Given the description of an element on the screen output the (x, y) to click on. 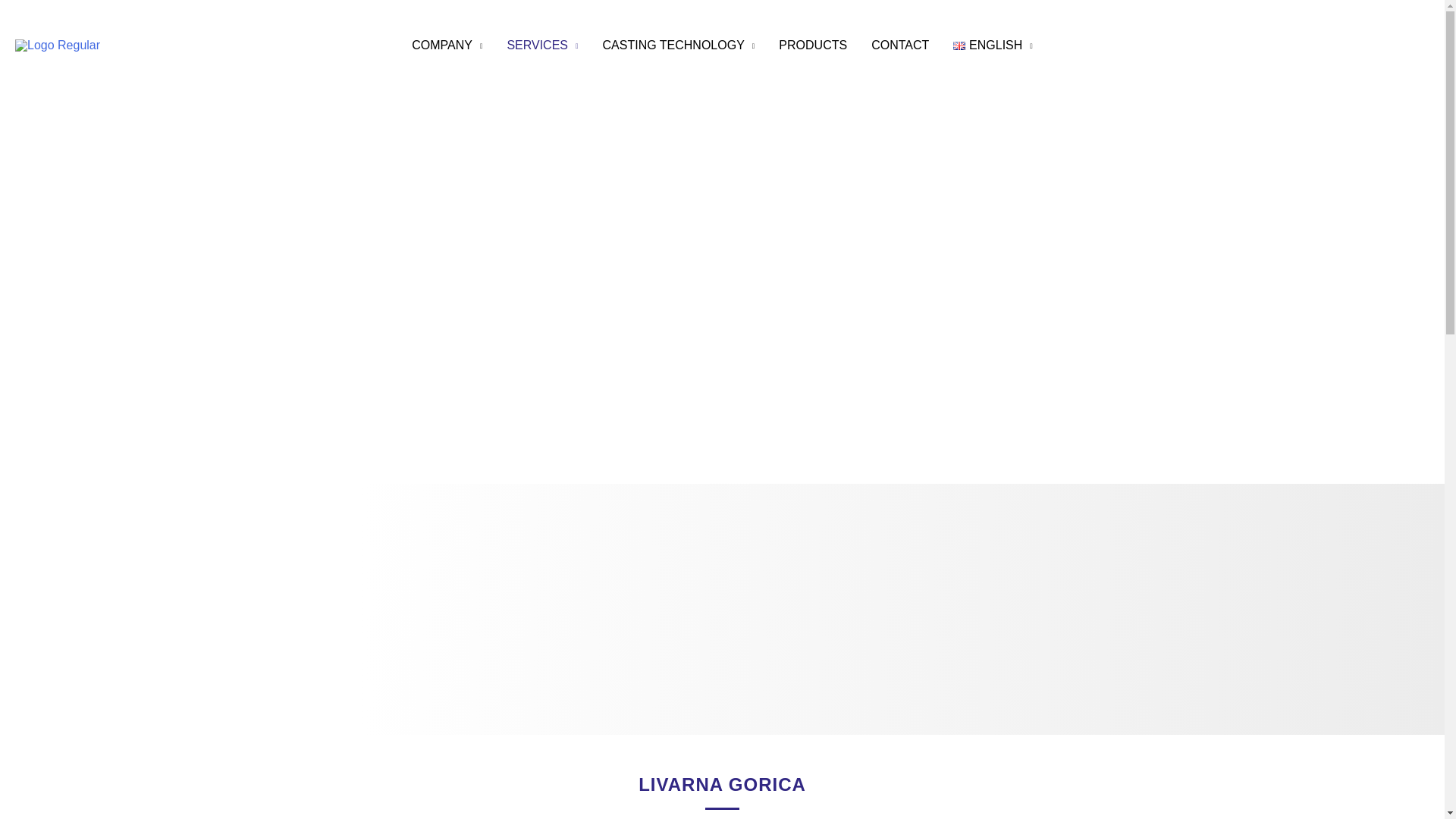
ENGLISH (992, 45)
CASTING TECHNOLOGY (679, 45)
COMPANY (446, 45)
CONTACT (899, 45)
PRODUCTS (813, 45)
SERVICES (542, 45)
